Given the description of an element on the screen output the (x, y) to click on. 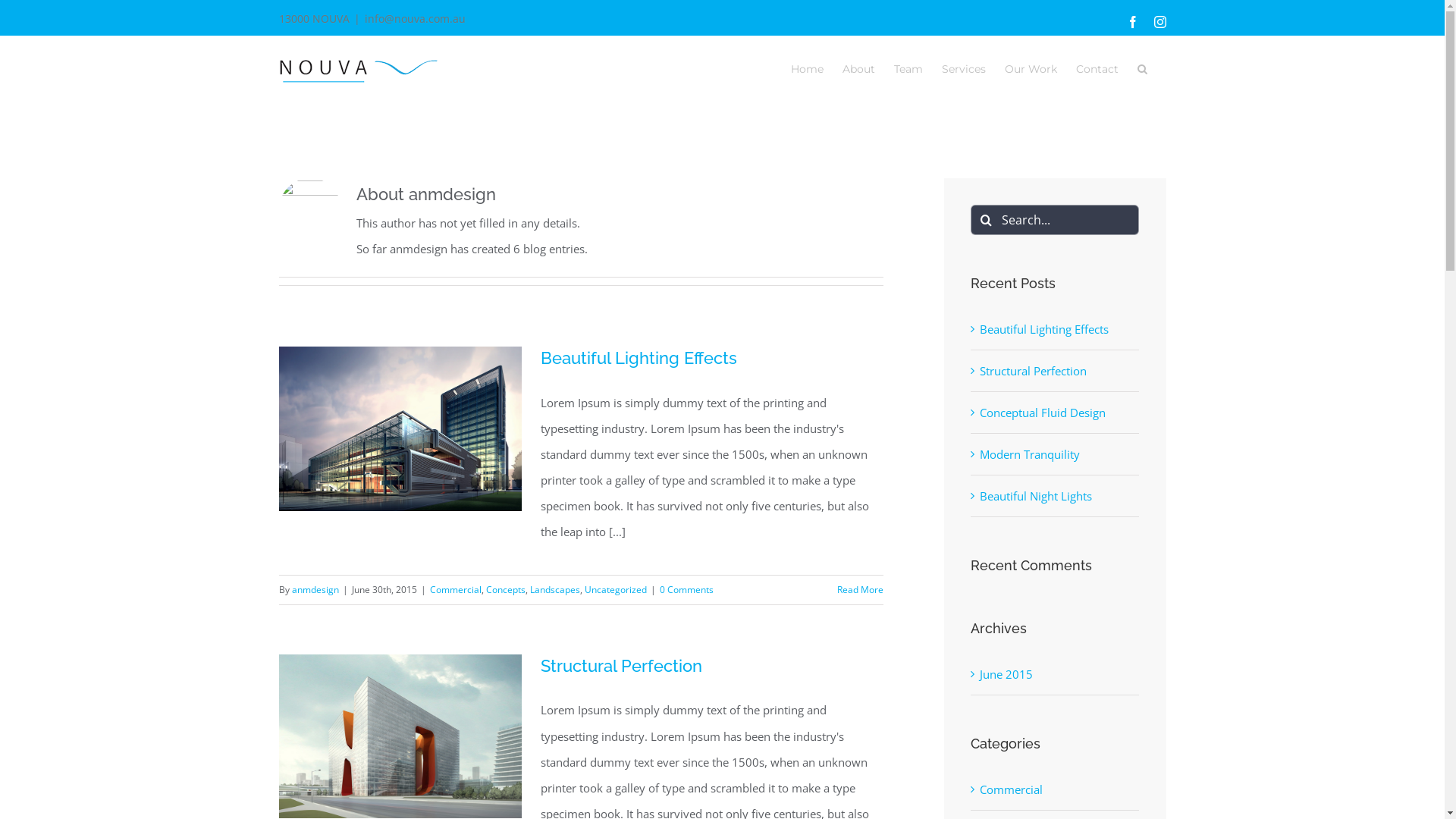
Team Element type: text (907, 68)
Conceptual Fluid Design Element type: text (1042, 412)
Commercial Element type: text (454, 589)
Contact Element type: text (1096, 68)
Commercial Element type: text (1055, 789)
Structural Perfection Element type: text (1032, 370)
Facebook Element type: text (1132, 21)
Search Element type: hover (1142, 68)
Home Element type: text (806, 68)
Instagram Element type: text (1160, 21)
info@nouva.com.au Element type: text (414, 18)
Beautiful Night Lights Element type: text (1035, 495)
Concepts Element type: text (504, 589)
Beautiful Lighting Effects Element type: text (637, 357)
0 Comments Element type: text (686, 589)
Modern Tranquility Element type: text (1029, 453)
About Element type: text (857, 68)
Beautiful Lighting Effects Element type: text (1043, 328)
anmdesign Element type: text (314, 589)
Read More Element type: text (860, 589)
Our Work Element type: text (1030, 68)
Structural Perfection Element type: text (620, 665)
Landscapes Element type: text (554, 589)
Uncategorized Element type: text (614, 589)
June 2015 Element type: text (1005, 673)
Services Element type: text (963, 68)
